Given the description of an element on the screen output the (x, y) to click on. 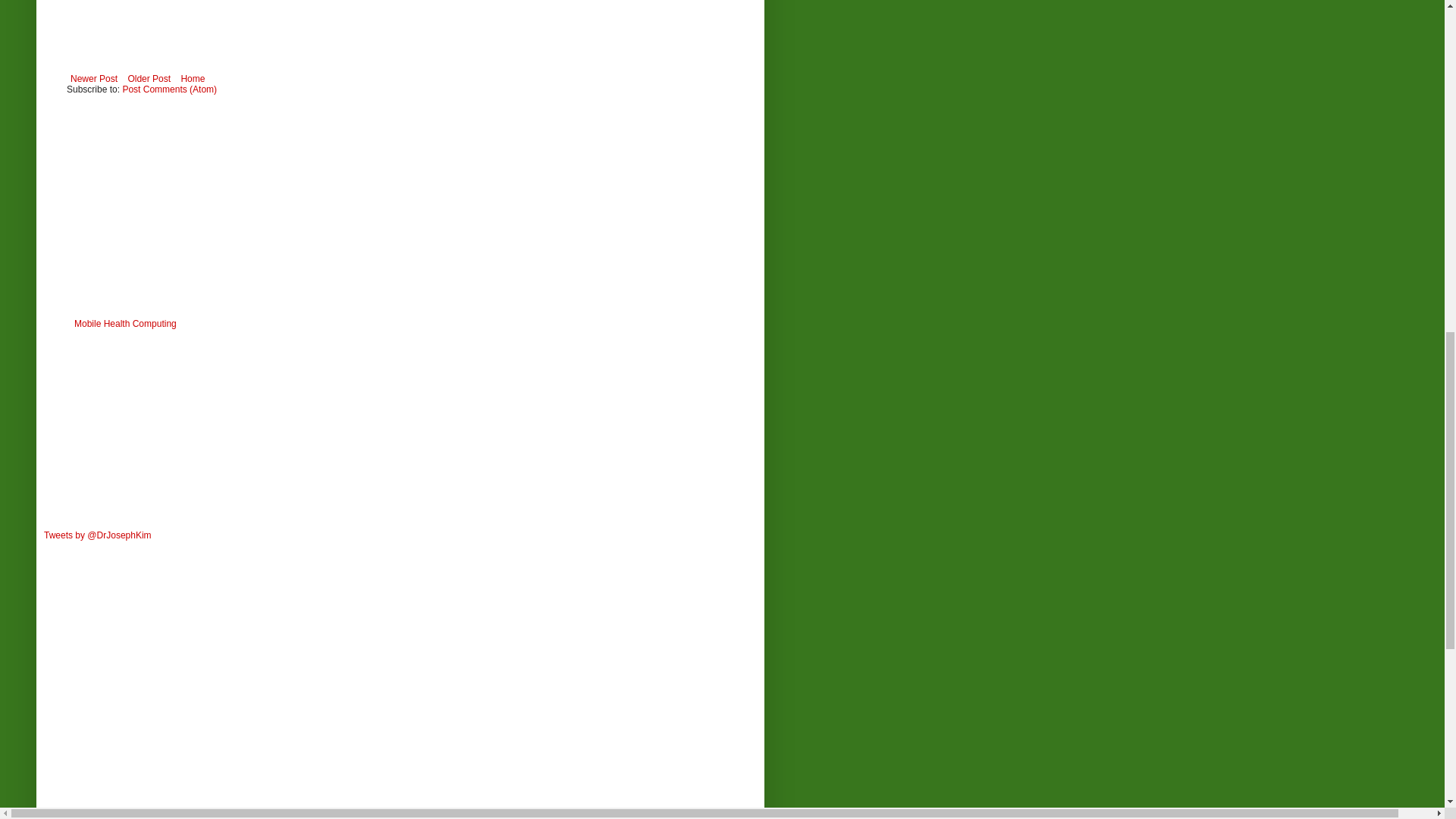
Older Post (148, 78)
Newer Post (93, 78)
Advertisement (156, 432)
Advertisement (193, 201)
Home (192, 78)
Mobile Health Computing (125, 323)
Older Post (148, 78)
Newer Post (93, 78)
